Given the description of an element on the screen output the (x, y) to click on. 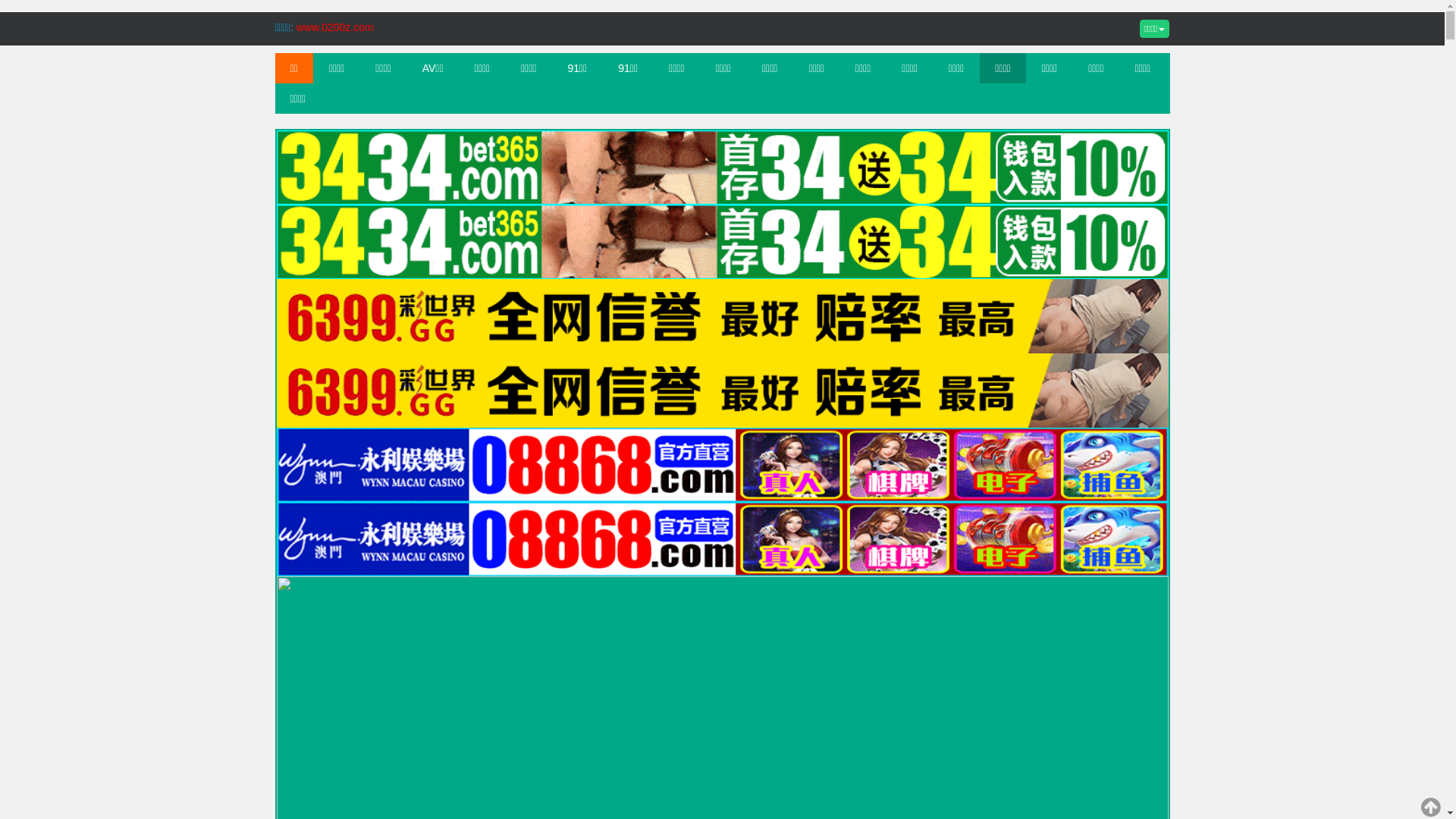
www.0200z.com Element type: text (334, 27)
